Given the description of an element on the screen output the (x, y) to click on. 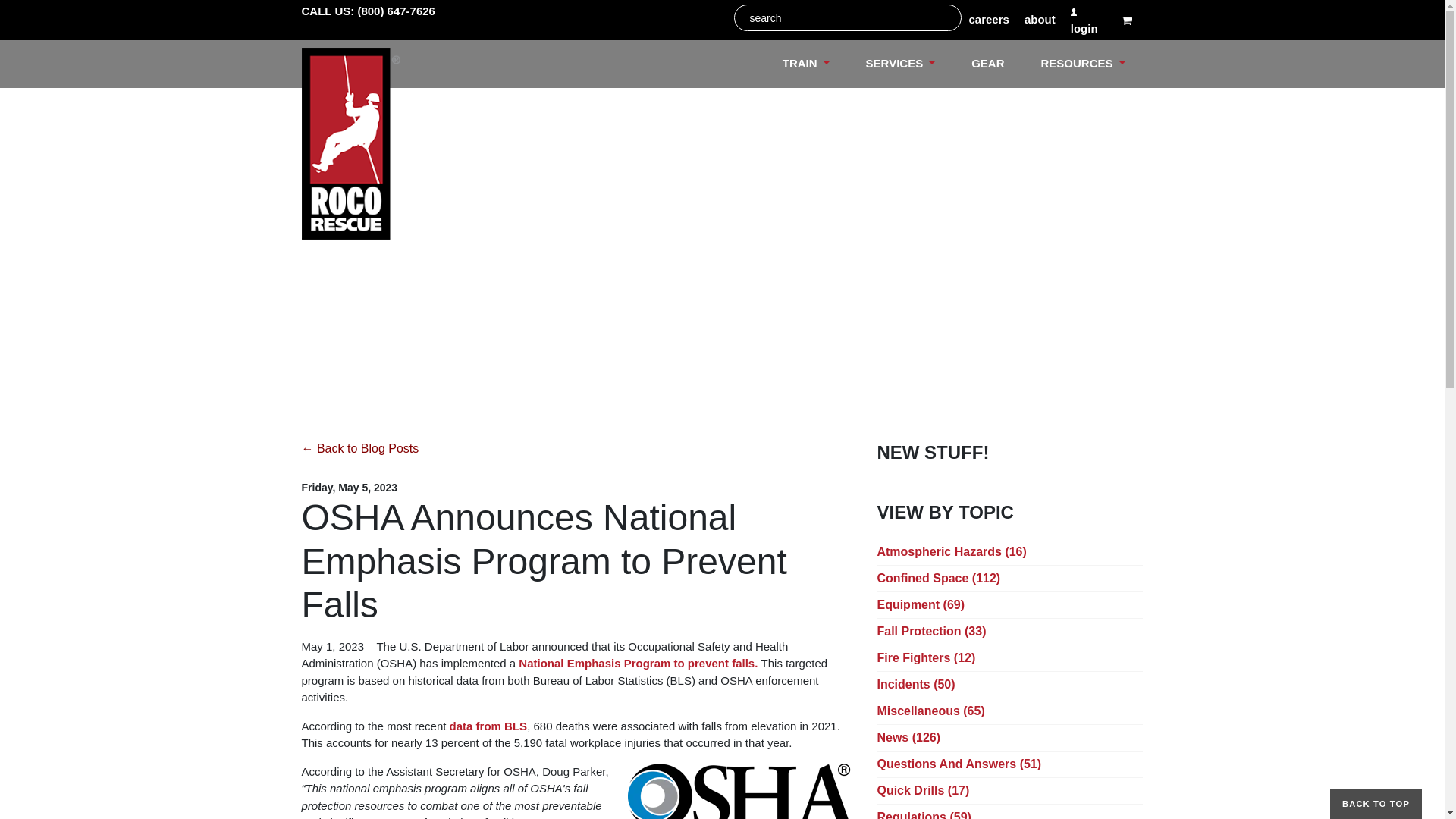
GEAR (987, 63)
SERVICES (900, 63)
careers (989, 19)
login (1088, 19)
about (1040, 19)
RESOURCES (1082, 63)
TRAIN (805, 63)
